Given the description of an element on the screen output the (x, y) to click on. 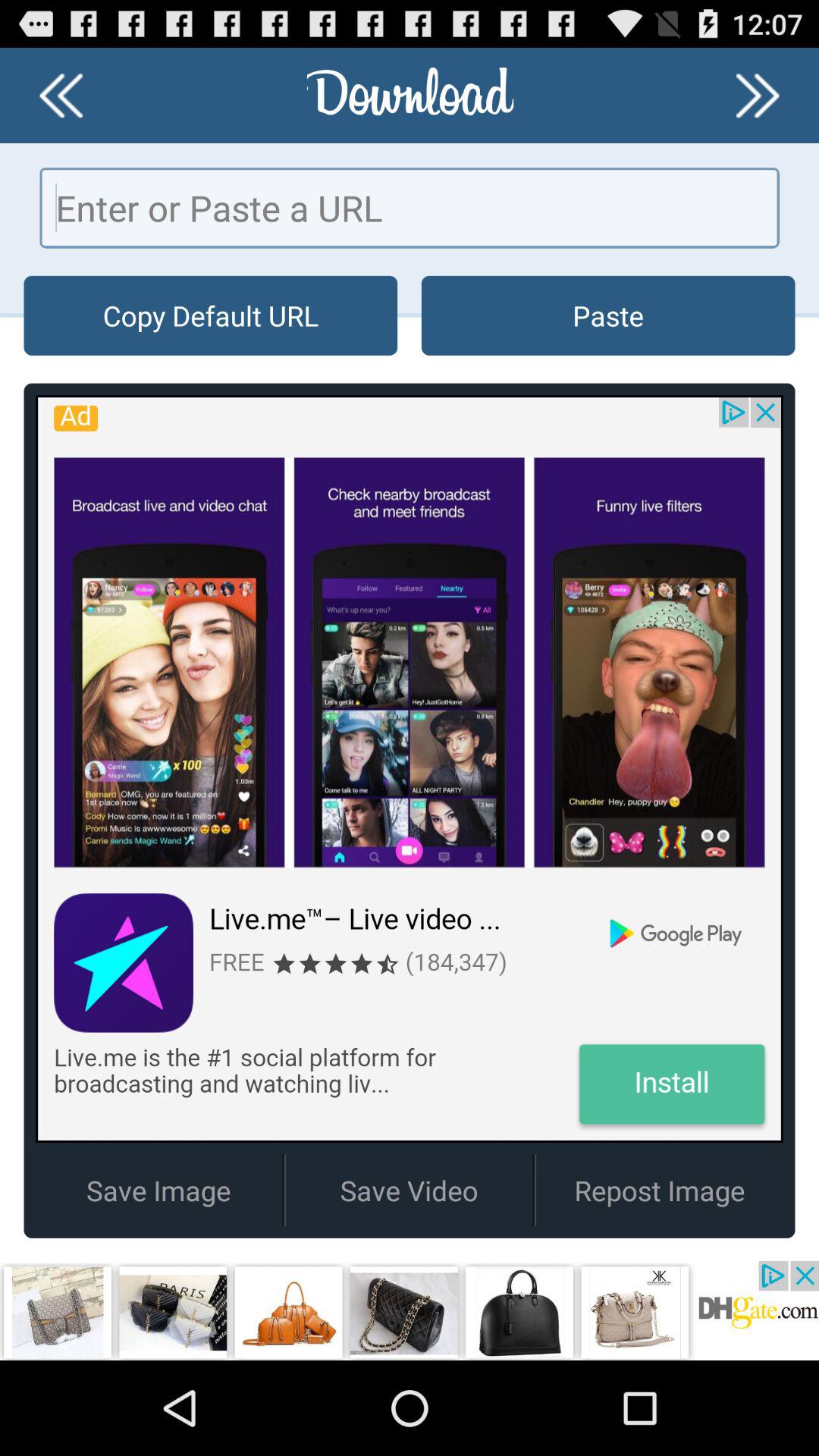
go to search box (409, 207)
